Given the description of an element on the screen output the (x, y) to click on. 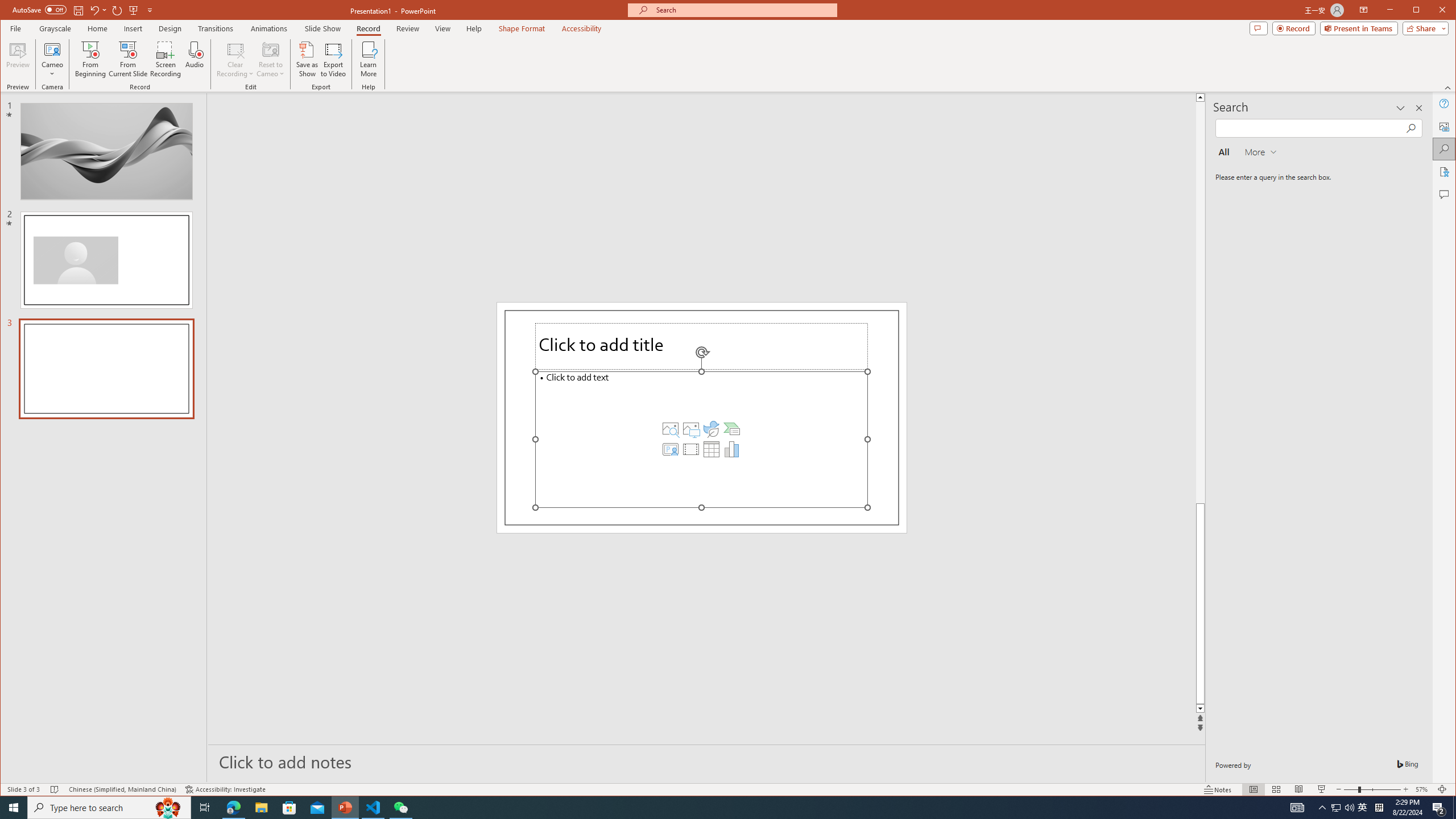
WeChat - 1 running window (400, 807)
Insert Chart (731, 449)
Content Placeholder (701, 438)
Screen Recording (165, 59)
